Given the description of an element on the screen output the (x, y) to click on. 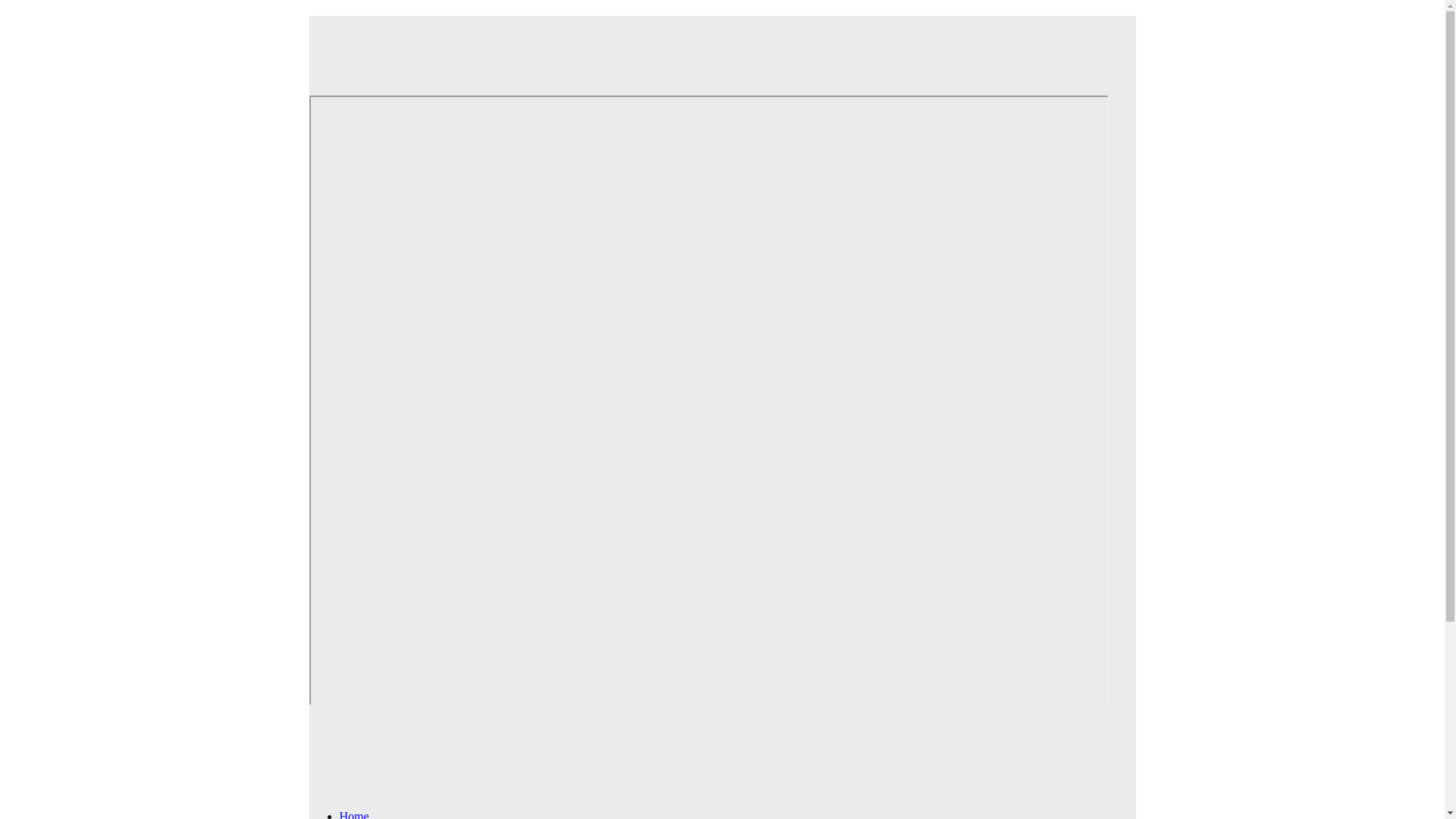
Web Hosting from Just Host Element type: text (707, 44)
